Given the description of an element on the screen output the (x, y) to click on. 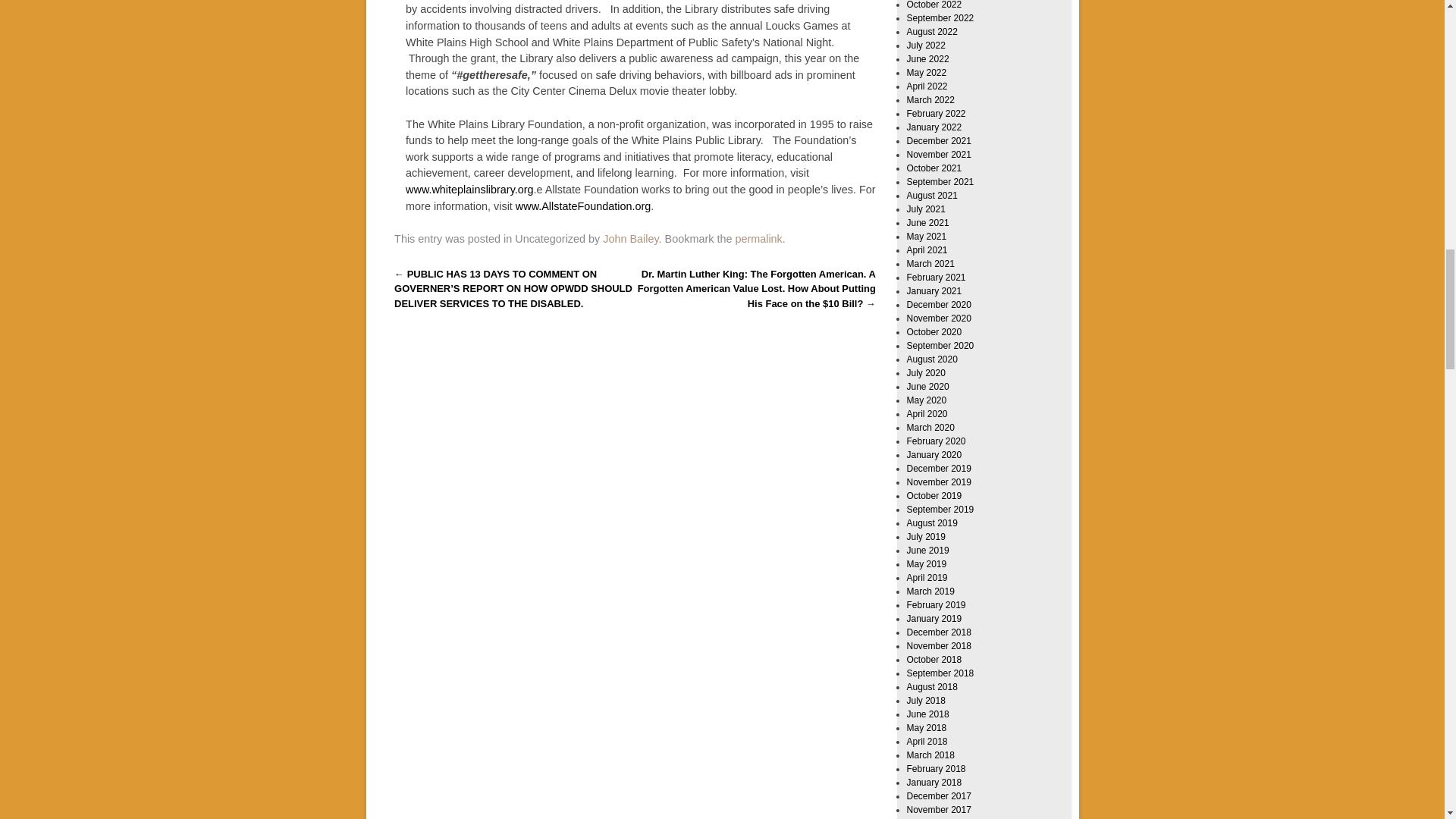
www.AllstateFoundation.org (582, 205)
www.whiteplainslibrary.org (470, 189)
permalink (758, 238)
John Bailey (630, 238)
